Given the description of an element on the screen output the (x, y) to click on. 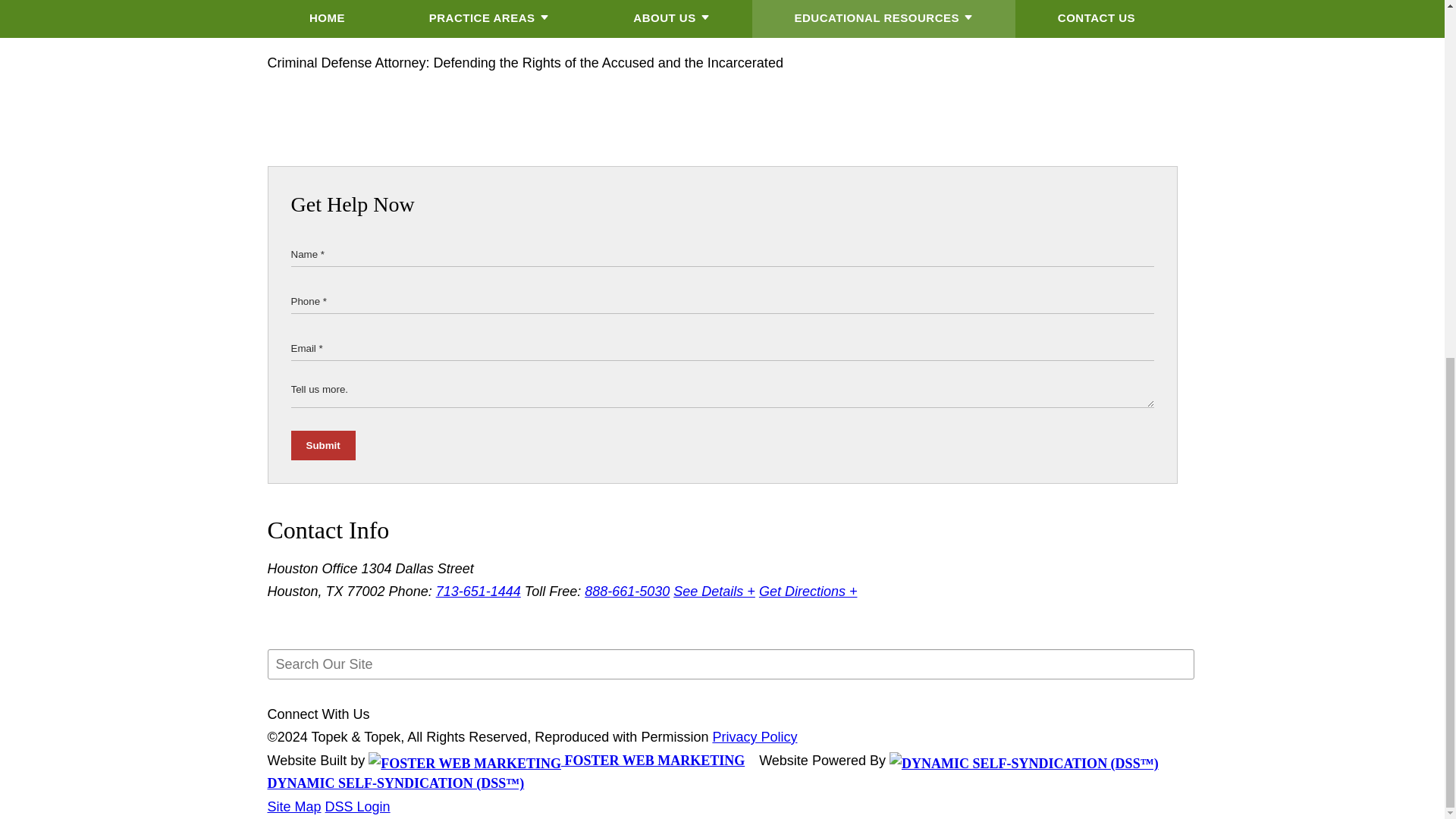
713-651-1444 (478, 590)
Submit (323, 445)
Connect with me on LinkedIn (307, 17)
888-661-5030 (627, 590)
LinkedIn (307, 17)
